Given the description of an element on the screen output the (x, y) to click on. 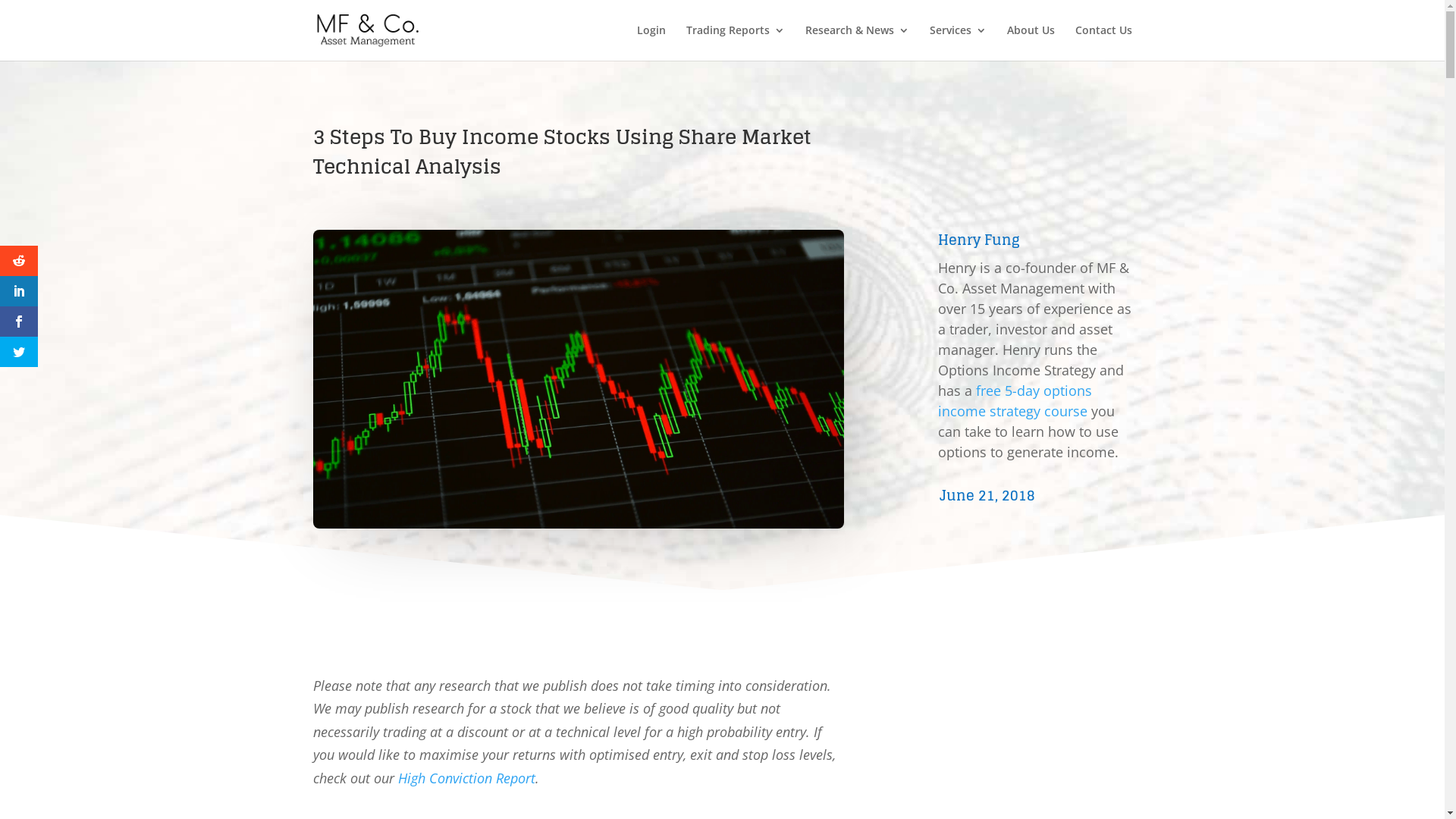
Login Element type: text (651, 42)
Contact Us Element type: text (1103, 42)
free 5-day options income strategy course Element type: text (1015, 400)
Research & News Element type: text (857, 42)
Take Action Now! Element type: text (225, 16)
About Us Element type: text (1030, 42)
Trading Reports Element type: text (734, 42)
stock-market-technical-analysis-2 Element type: hover (577, 378)
High Conviction Report Element type: text (465, 777)
Services Element type: text (957, 42)
